Given the description of an element on the screen output the (x, y) to click on. 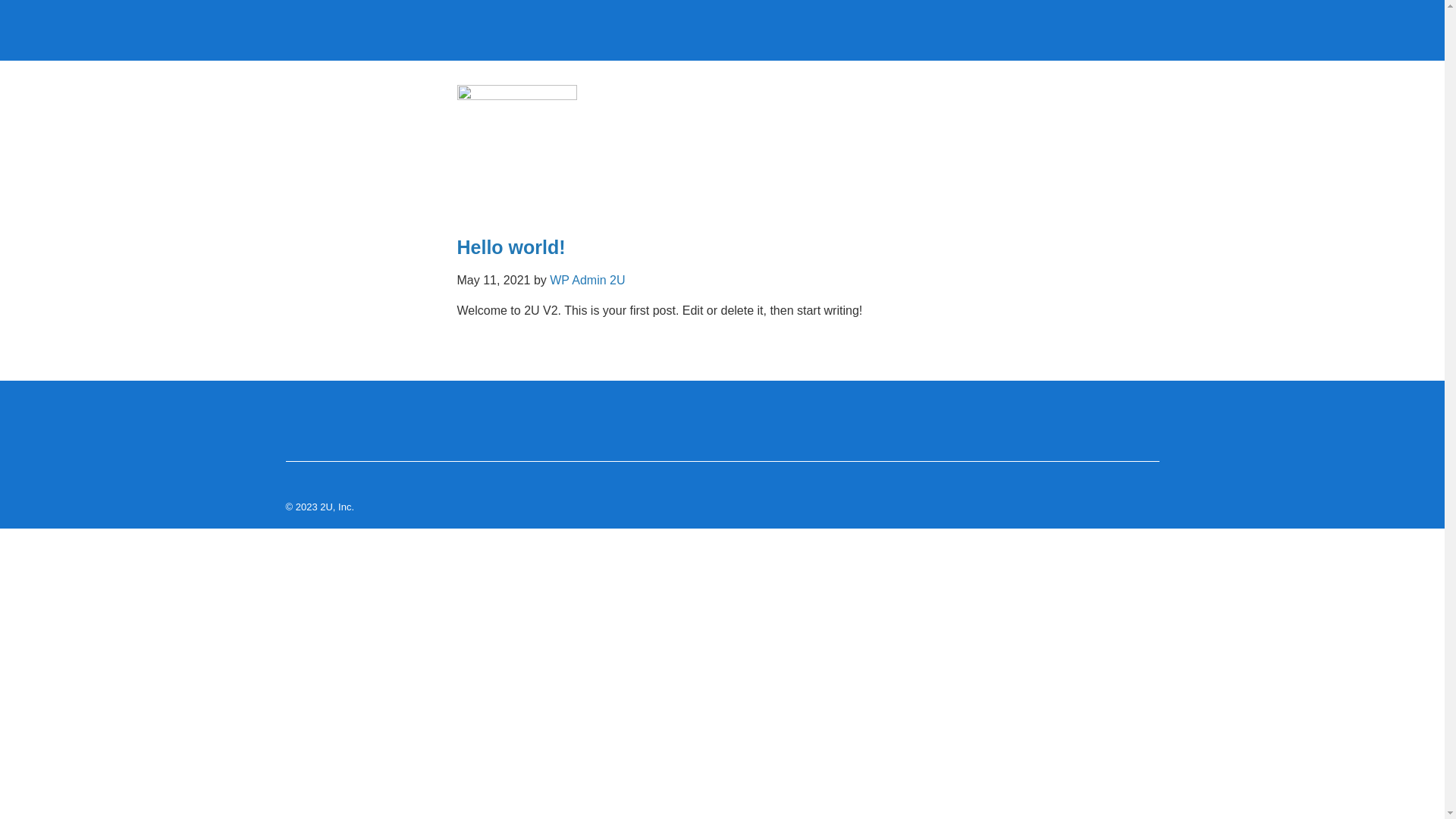
WP Admin 2U Element type: text (586, 280)
Hello world! Element type: text (510, 247)
